Given the description of an element on the screen output the (x, y) to click on. 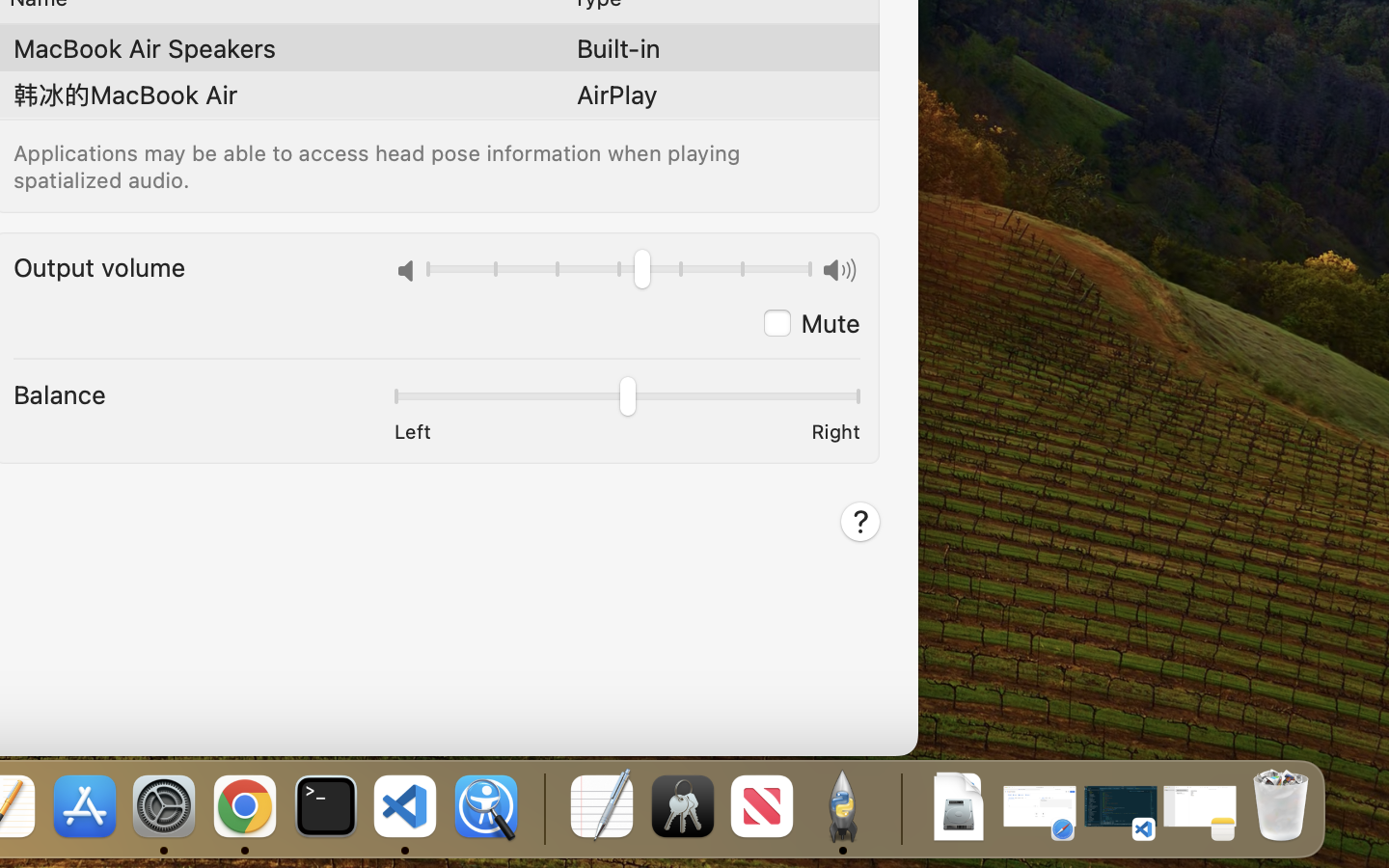
Balance Element type: AXStaticText (59, 393)
Output volume Element type: AXStaticText (99, 265)
MacBook Air Speakers Element type: AXStaticText (144, 47)
AirPlay Element type: AXStaticText (616, 94)
